Given the description of an element on the screen output the (x, y) to click on. 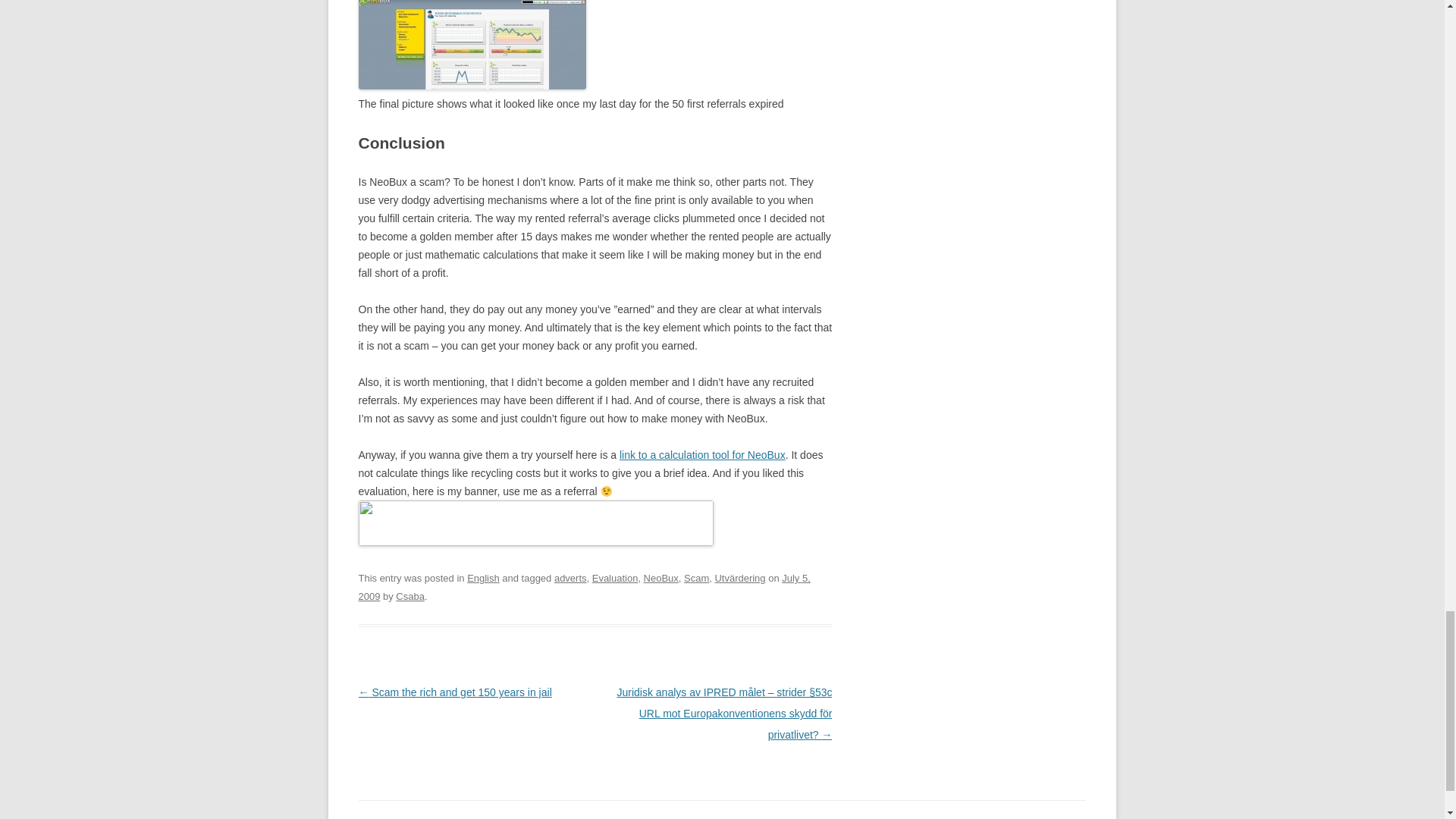
11:19 am (583, 586)
View all posts by Csaba (410, 595)
090701 - 2 (471, 44)
